Given the description of an element on the screen output the (x, y) to click on. 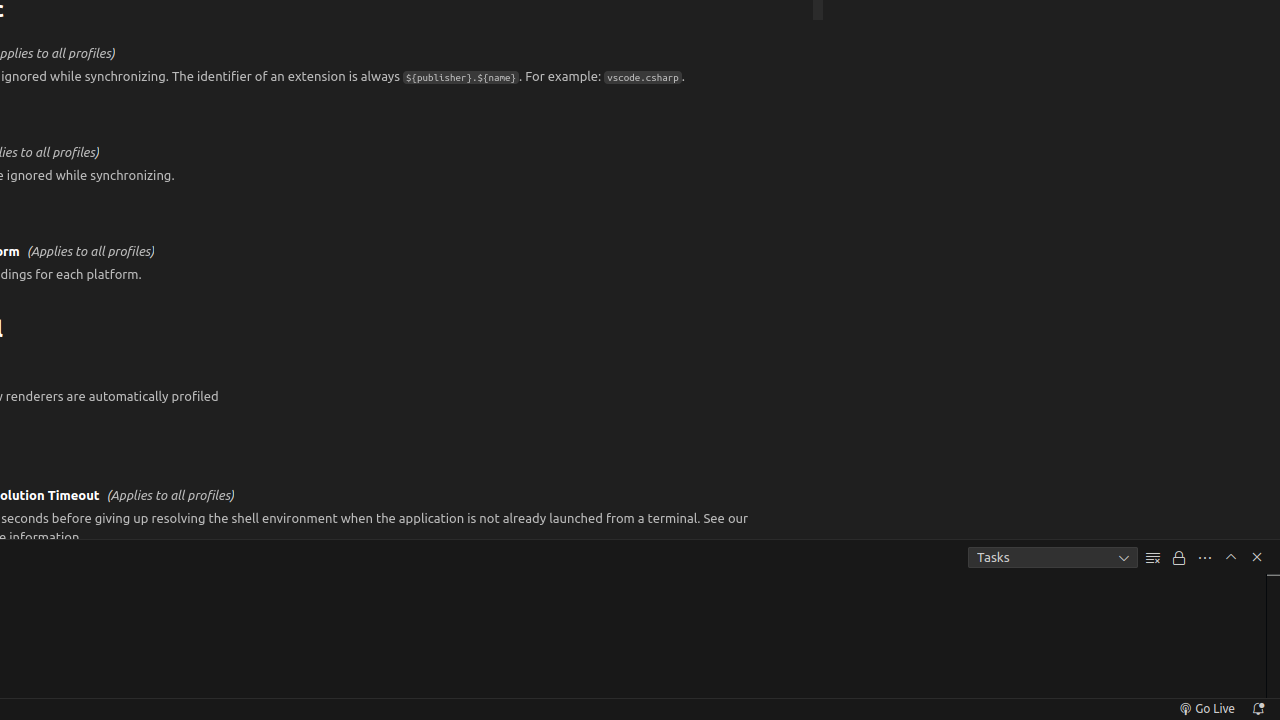
Maximize Panel Size Element type: check-box (1231, 557)
Views and More Actions... Element type: push-button (1205, 557)
Hide Panel Element type: push-button (1257, 557)
Tasks Element type: menu-item (1053, 557)
broadcast Go Live, Click to run live server Element type: push-button (1206, 709)
